Given the description of an element on the screen output the (x, y) to click on. 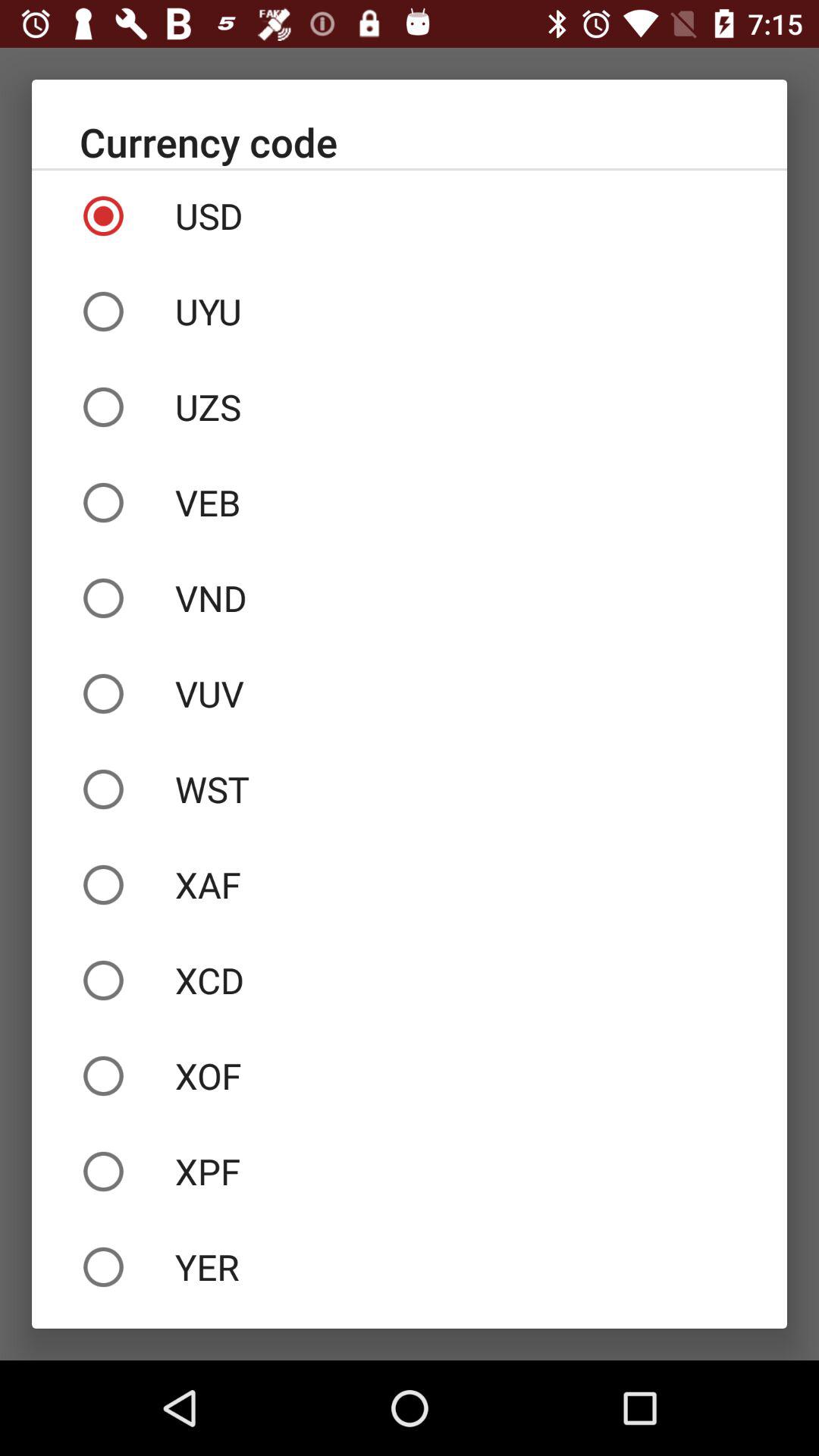
turn off the icon below the xof icon (409, 1171)
